Given the description of an element on the screen output the (x, y) to click on. 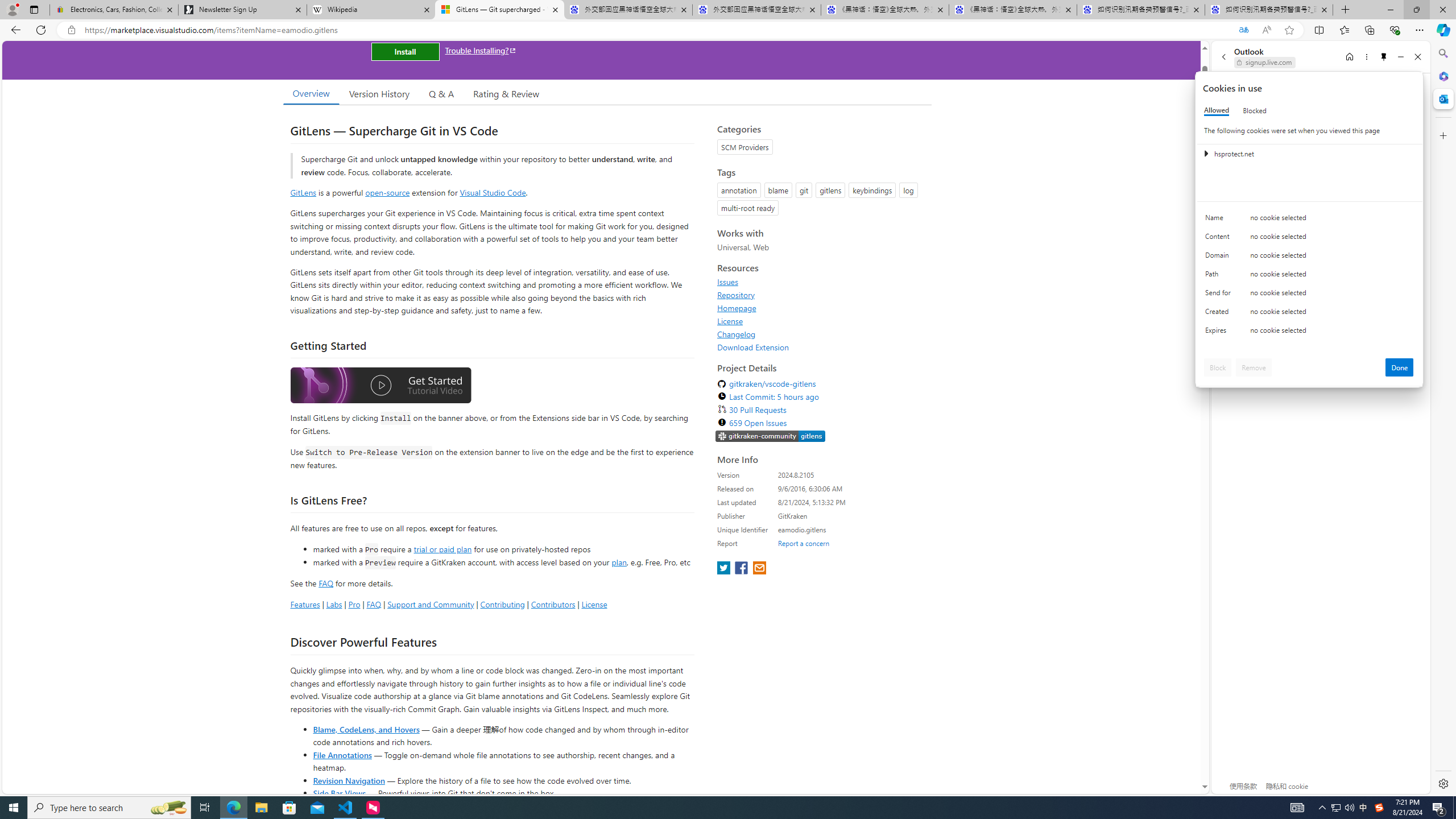
Blocked (1255, 110)
Class: c0153 c0157 c0154 (1309, 220)
no cookie selected (1331, 332)
Class: c0153 c0157 (1309, 332)
Send for (1219, 295)
Name (1219, 220)
Done (1399, 367)
Remove (1253, 367)
Block (1217, 367)
Expires (1219, 332)
Domain (1219, 257)
Content (1219, 239)
Created (1219, 313)
Allowed (1216, 110)
Path (1219, 276)
